Given the description of an element on the screen output the (x, y) to click on. 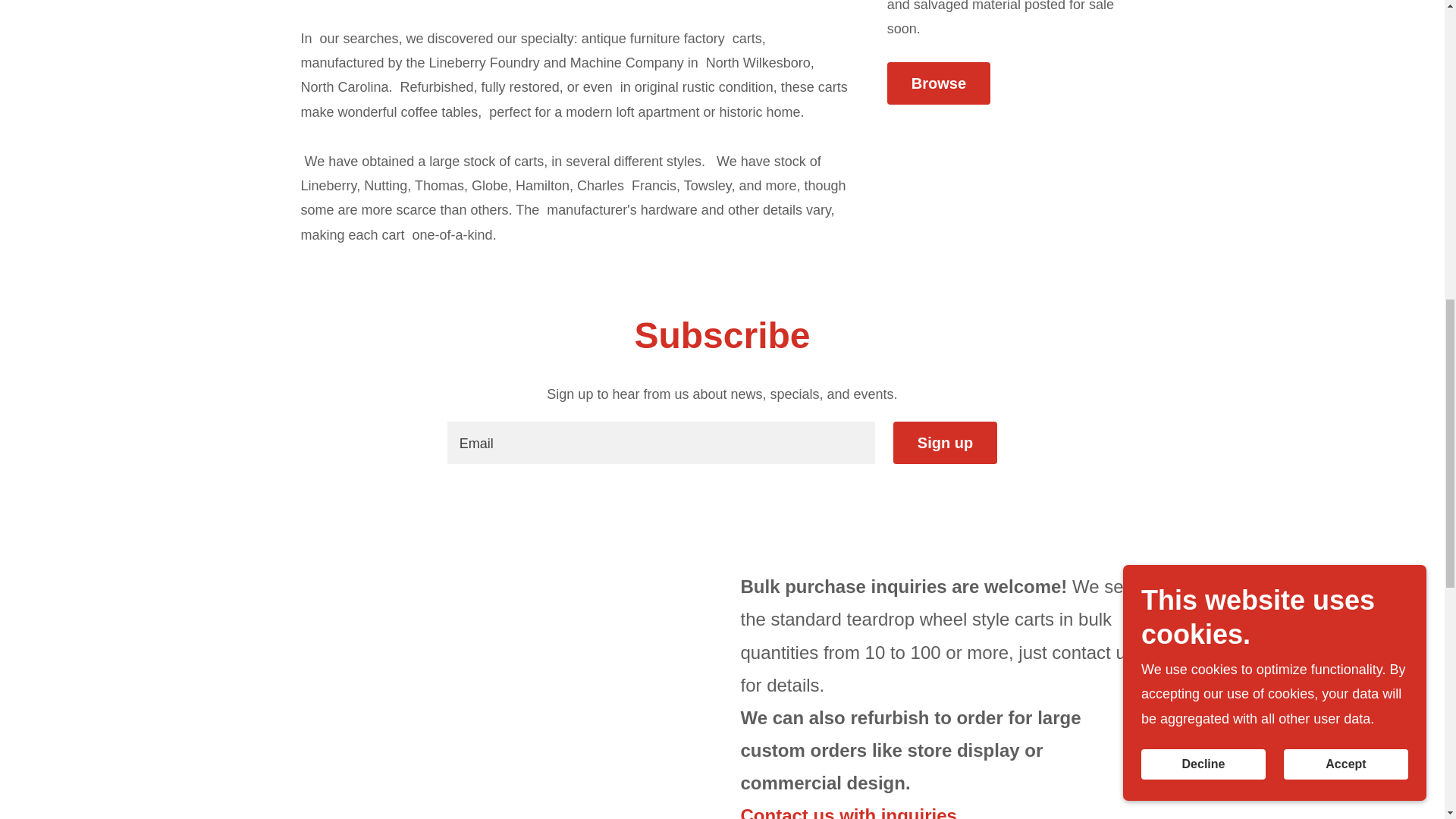
Contact us with inquiries (847, 812)
Browse (938, 83)
Sign up (945, 442)
